Given the description of an element on the screen output the (x, y) to click on. 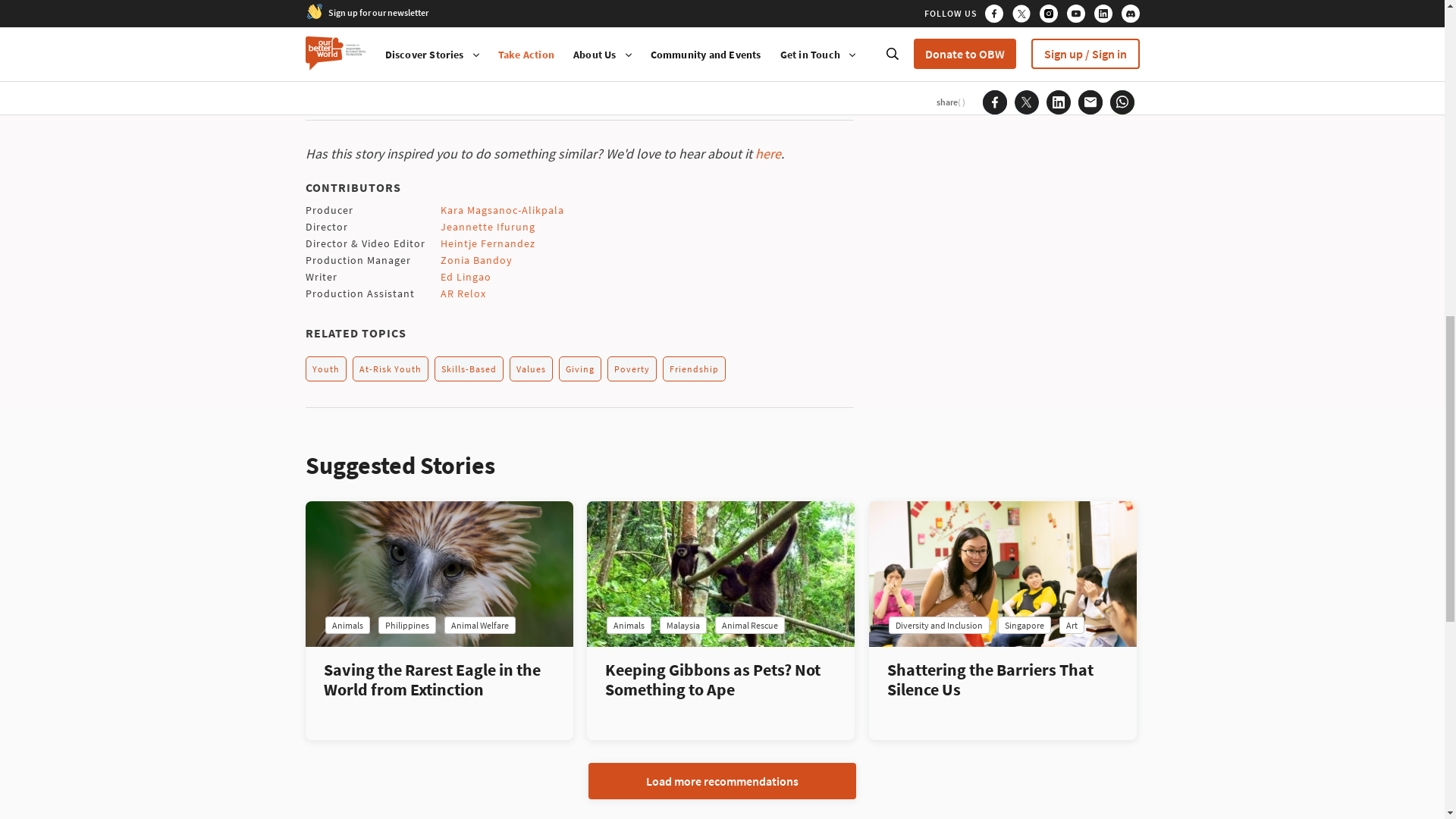
Saving the rarest eagle in the world from extinction (438, 574)
Keeping gibbons as pets? Not something to ape (720, 574)
